Given the description of an element on the screen output the (x, y) to click on. 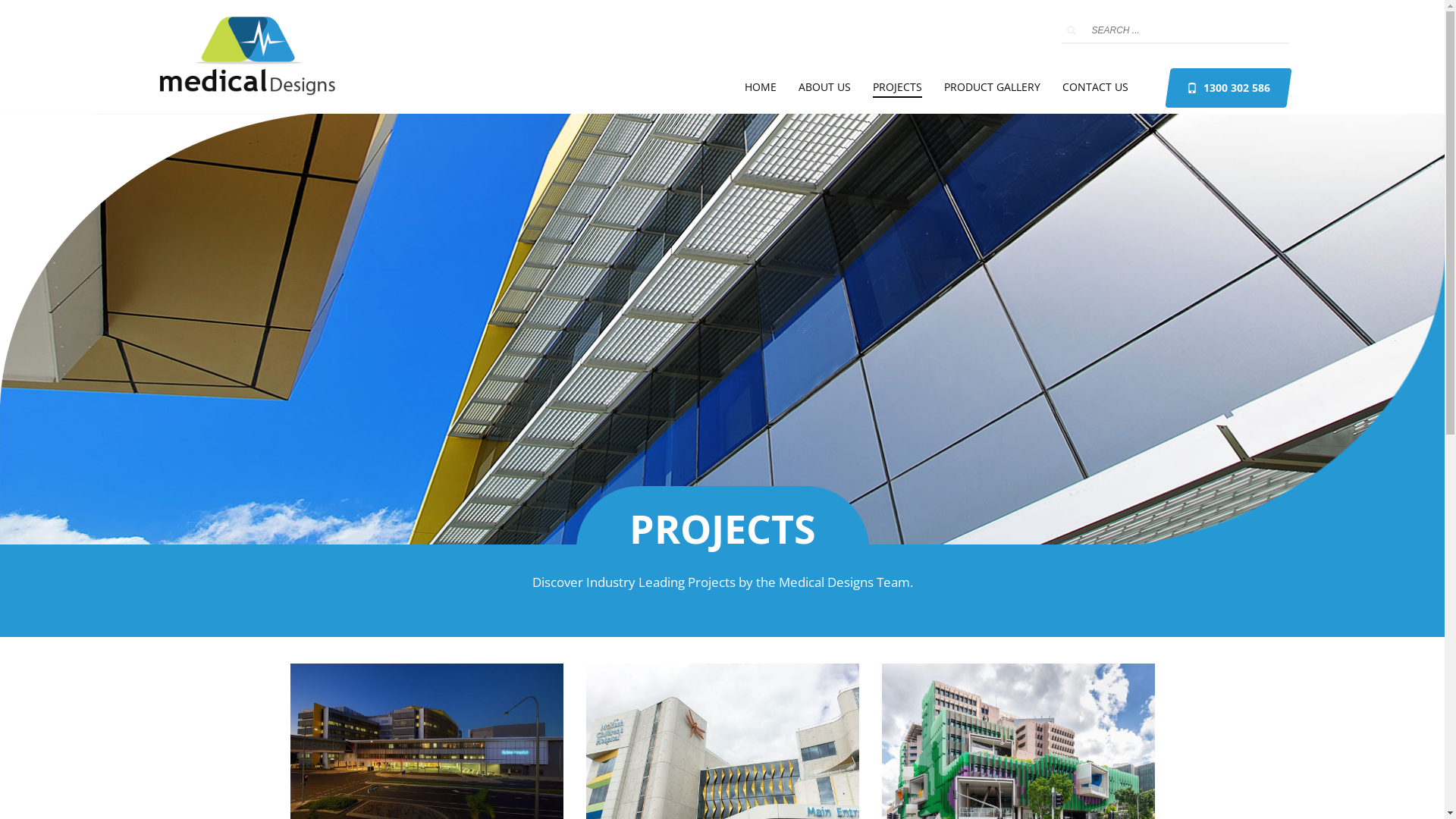
PROJECTS Element type: text (896, 87)
Medical Designs Element type: hover (247, 56)
HOME Element type: text (760, 87)
CONTACT US Element type: text (1094, 87)
1300 302 586 Element type: text (1228, 87)
ABOUT US Element type: text (823, 87)
go Element type: text (1070, 29)
PRODUCT GALLERY Element type: text (991, 87)
